Given the description of an element on the screen output the (x, y) to click on. 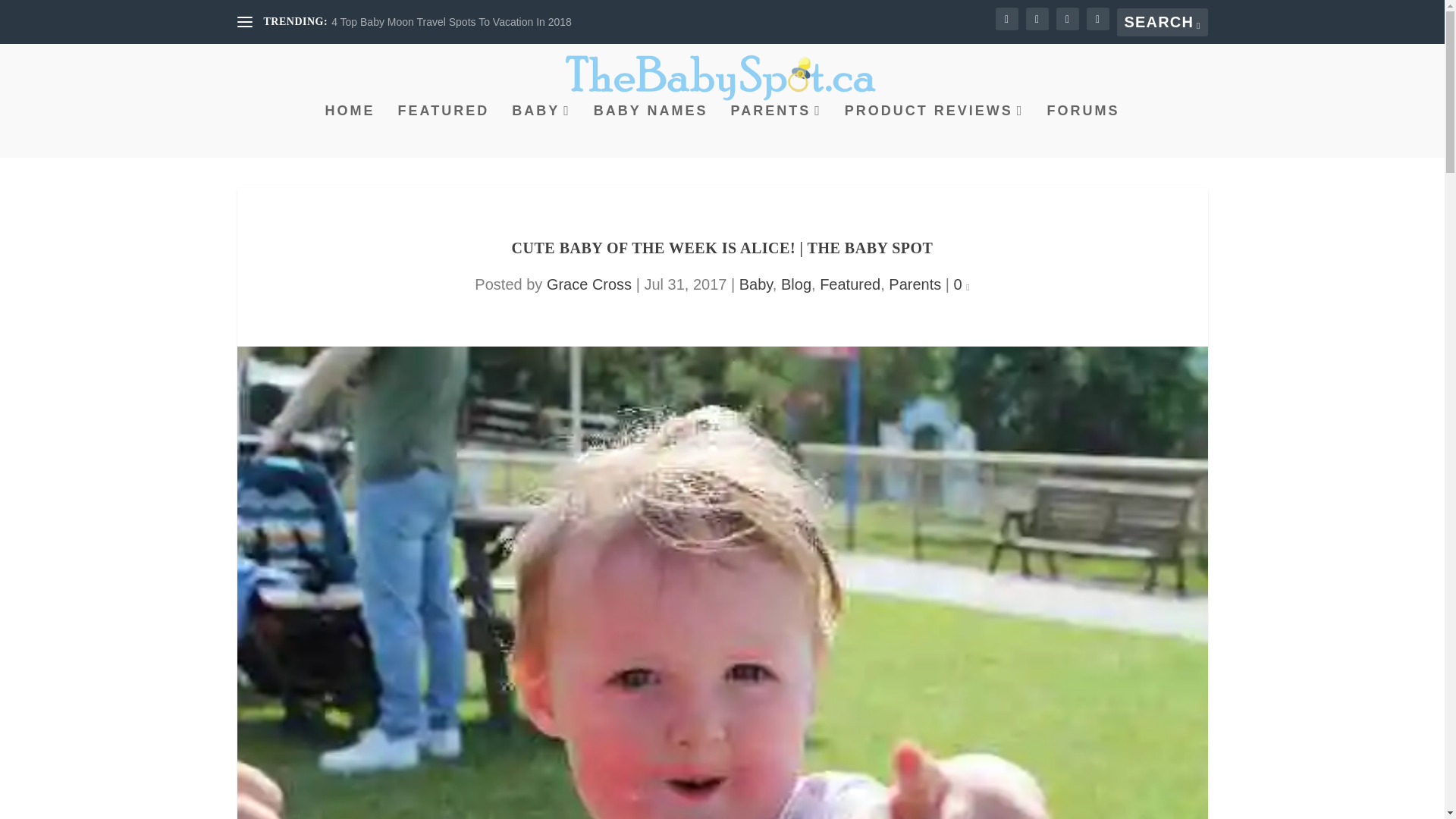
PARENTS (776, 131)
PRODUCT REVIEWS (934, 131)
BABY NAMES (650, 131)
BABY (541, 131)
Posts by Grace Cross (589, 284)
FEATURED (443, 131)
Search for: (1161, 22)
HOME (349, 131)
FORUMS (1082, 131)
4 Top Baby Moon Travel Spots To Vacation In 2018 (451, 21)
